Given the description of an element on the screen output the (x, y) to click on. 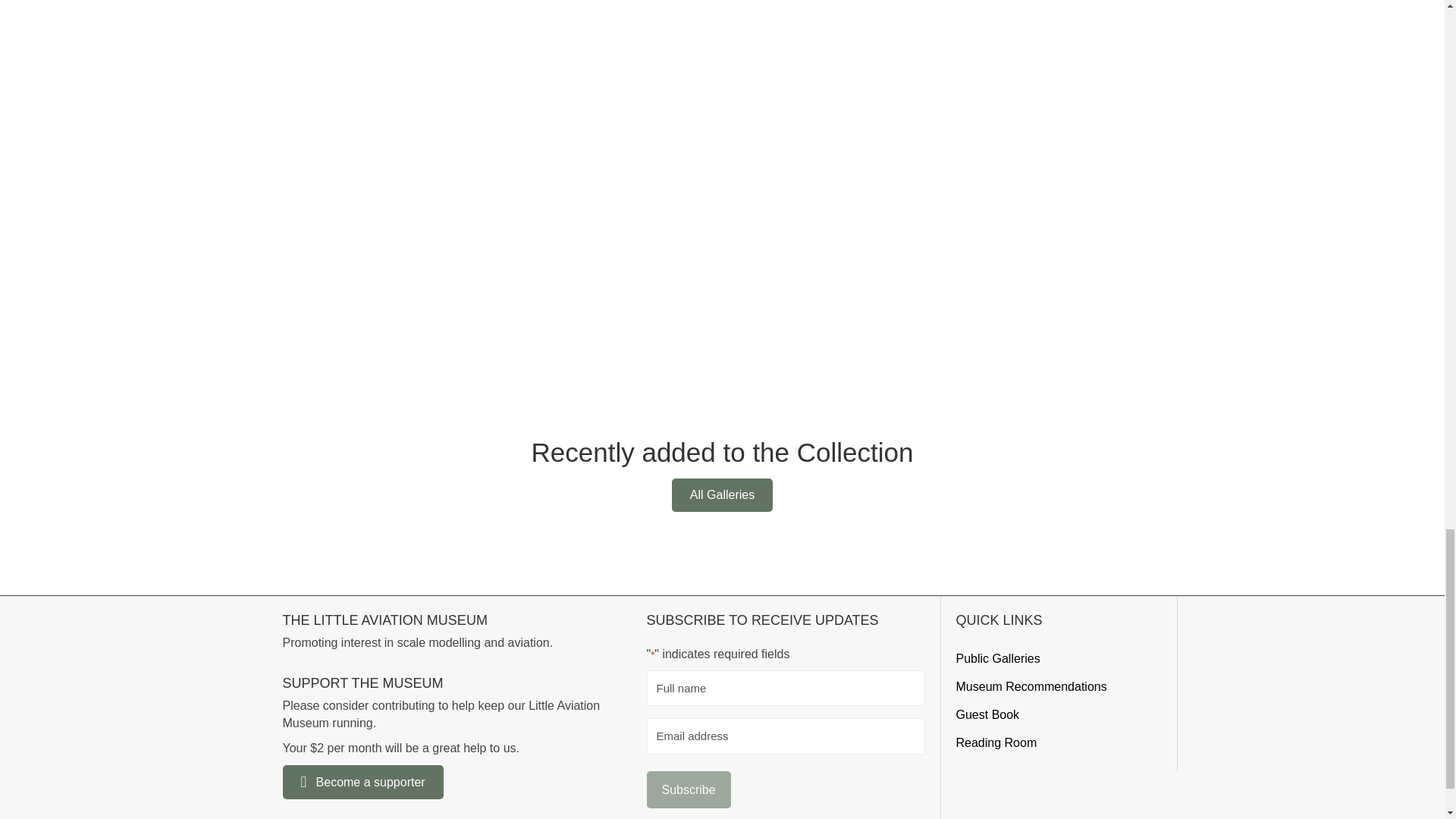
Subscribe (688, 789)
